Given the description of an element on the screen output the (x, y) to click on. 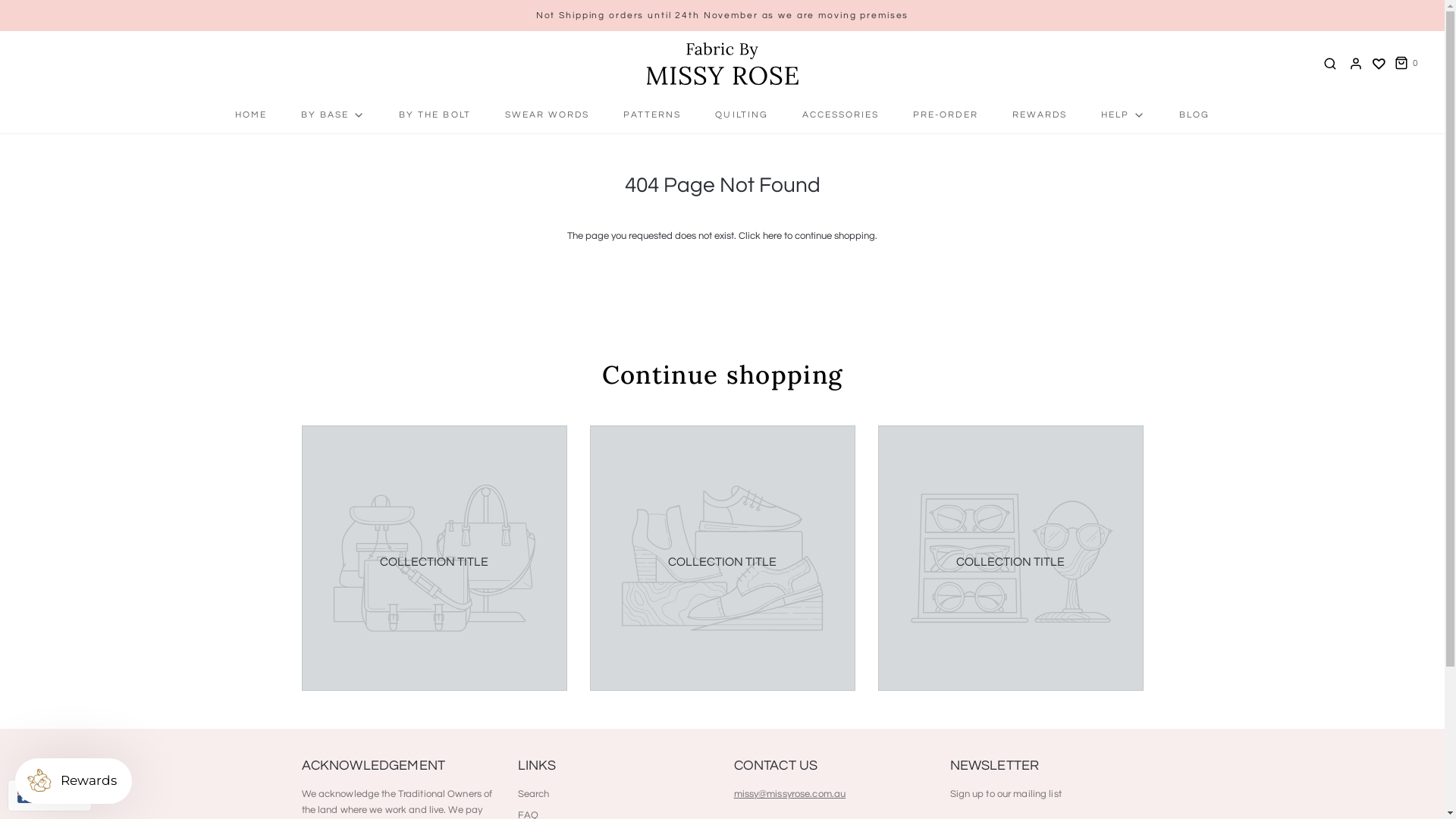
0 Element type: text (1405, 63)
COLLECTION TITLE Element type: text (433, 561)
Rewards Element type: text (73, 780)
COLLECTION TITLE Element type: text (722, 561)
Search Element type: hover (1330, 63)
SWEAR WORDS Element type: text (547, 114)
PATTERNS Element type: text (651, 114)
BY BASE Element type: text (332, 114)
QUILTING Element type: text (741, 114)
HOME Element type: text (250, 114)
BLOG Element type: text (1194, 114)
PRE-ORDER Element type: text (945, 114)
missy@missyrose.com.au Element type: text (790, 793)
HELP Element type: text (1123, 114)
Search Element type: text (533, 796)
Log in Element type: hover (1355, 63)
BY THE BOLT Element type: text (434, 114)
REWARDS Element type: text (1039, 114)
COLLECTION TITLE Element type: text (1010, 561)
here Element type: text (771, 235)
ACCESSORIES Element type: text (840, 114)
